Given the description of an element on the screen output the (x, y) to click on. 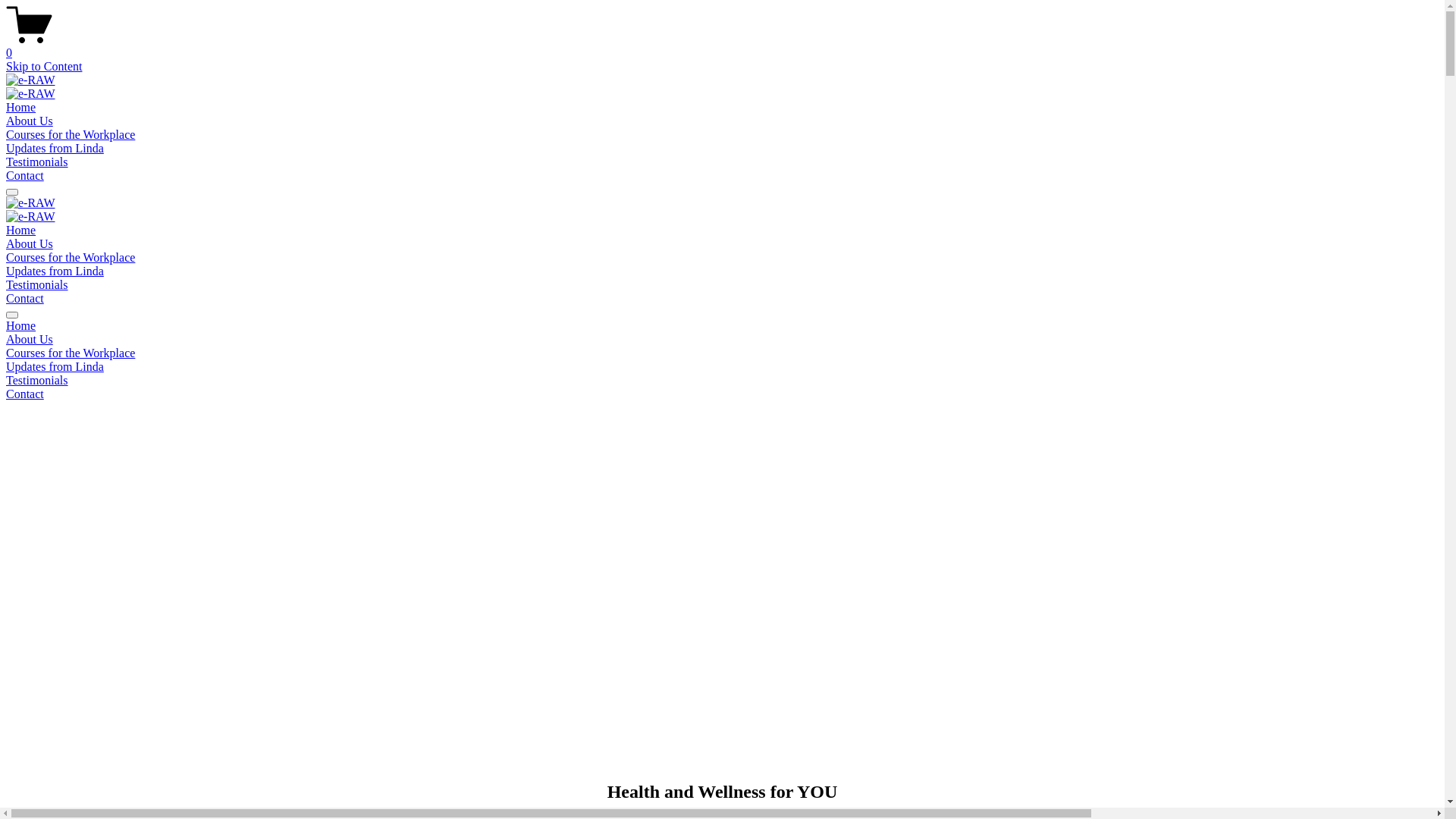
Courses for the Workplace Element type: text (70, 257)
About Us Element type: text (722, 339)
Contact Element type: text (24, 175)
About Us Element type: text (29, 120)
Courses for the Workplace Element type: text (70, 134)
Updates from Linda Element type: text (54, 147)
Testimonials Element type: text (37, 284)
About Us Element type: text (29, 243)
Updates from Linda Element type: text (722, 366)
Home Element type: text (20, 229)
Skip to Content Element type: text (43, 65)
Home Element type: text (722, 325)
0 Element type: text (722, 45)
Home Element type: text (20, 106)
Contact Element type: text (722, 394)
Testimonials Element type: text (722, 380)
Courses for the Workplace Element type: text (722, 353)
Contact Element type: text (24, 297)
Testimonials Element type: text (37, 161)
Updates from Linda Element type: text (54, 270)
